Given the description of an element on the screen output the (x, y) to click on. 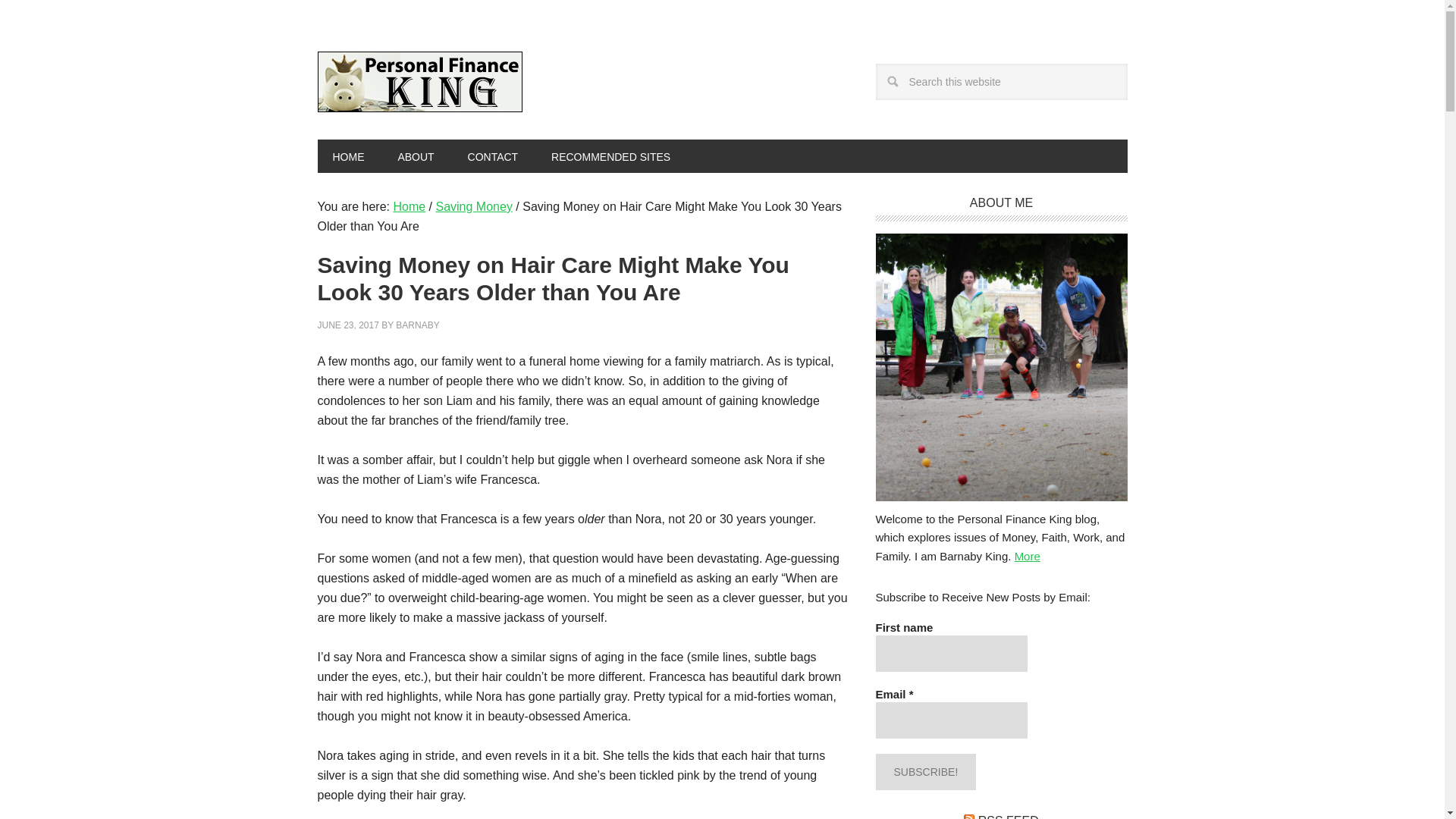
RSS FEED (1008, 816)
More (1027, 555)
Email (950, 719)
CONTACT (493, 155)
Subscribe! (925, 771)
First name (950, 653)
RECOMMENDED SITES (610, 155)
Home (409, 205)
HOME (347, 155)
PERSONAL FINANCE KING (419, 81)
Subscribe! (925, 771)
Saving Money (473, 205)
